Given the description of an element on the screen output the (x, y) to click on. 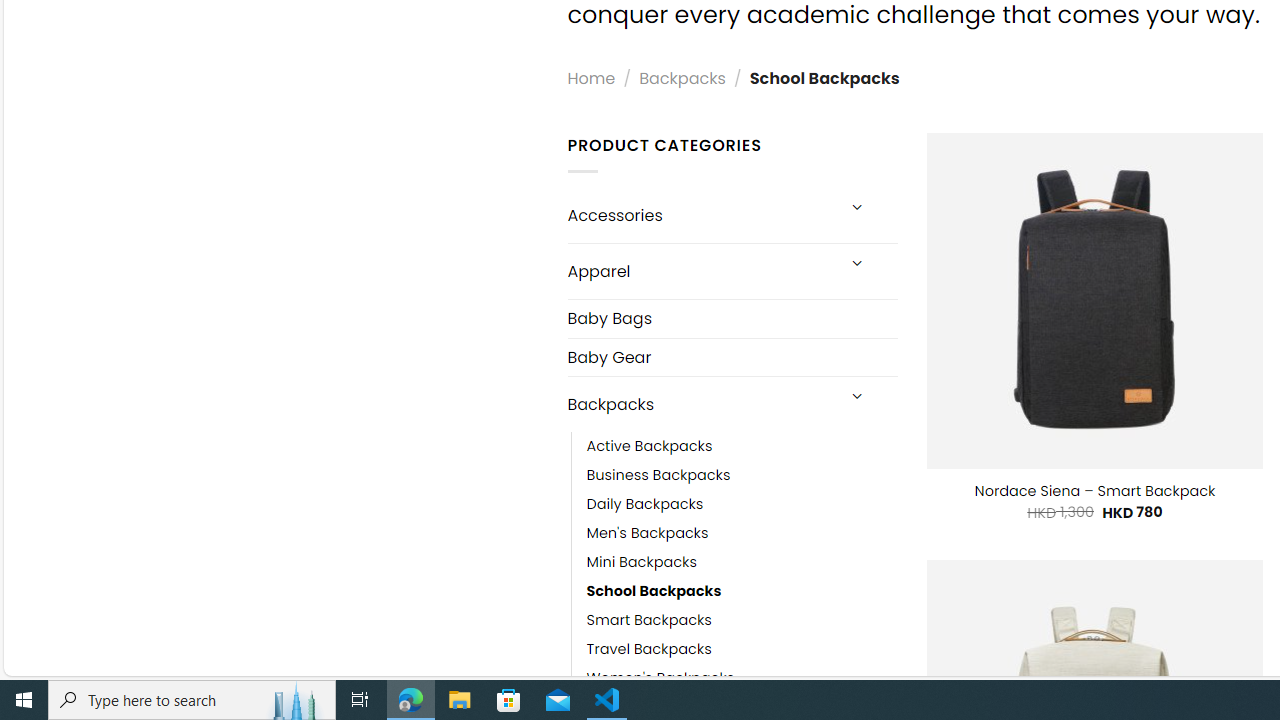
Baby Gear (732, 356)
Travel Backpacks (648, 650)
Baby Bags (732, 318)
Business Backpacks (658, 475)
Baby Gear (732, 357)
Daily Backpacks (742, 504)
Travel Backpacks (742, 650)
Men's Backpacks (742, 533)
Mini Backpacks (742, 562)
Women's Backpacks (660, 678)
